Given the description of an element on the screen output the (x, y) to click on. 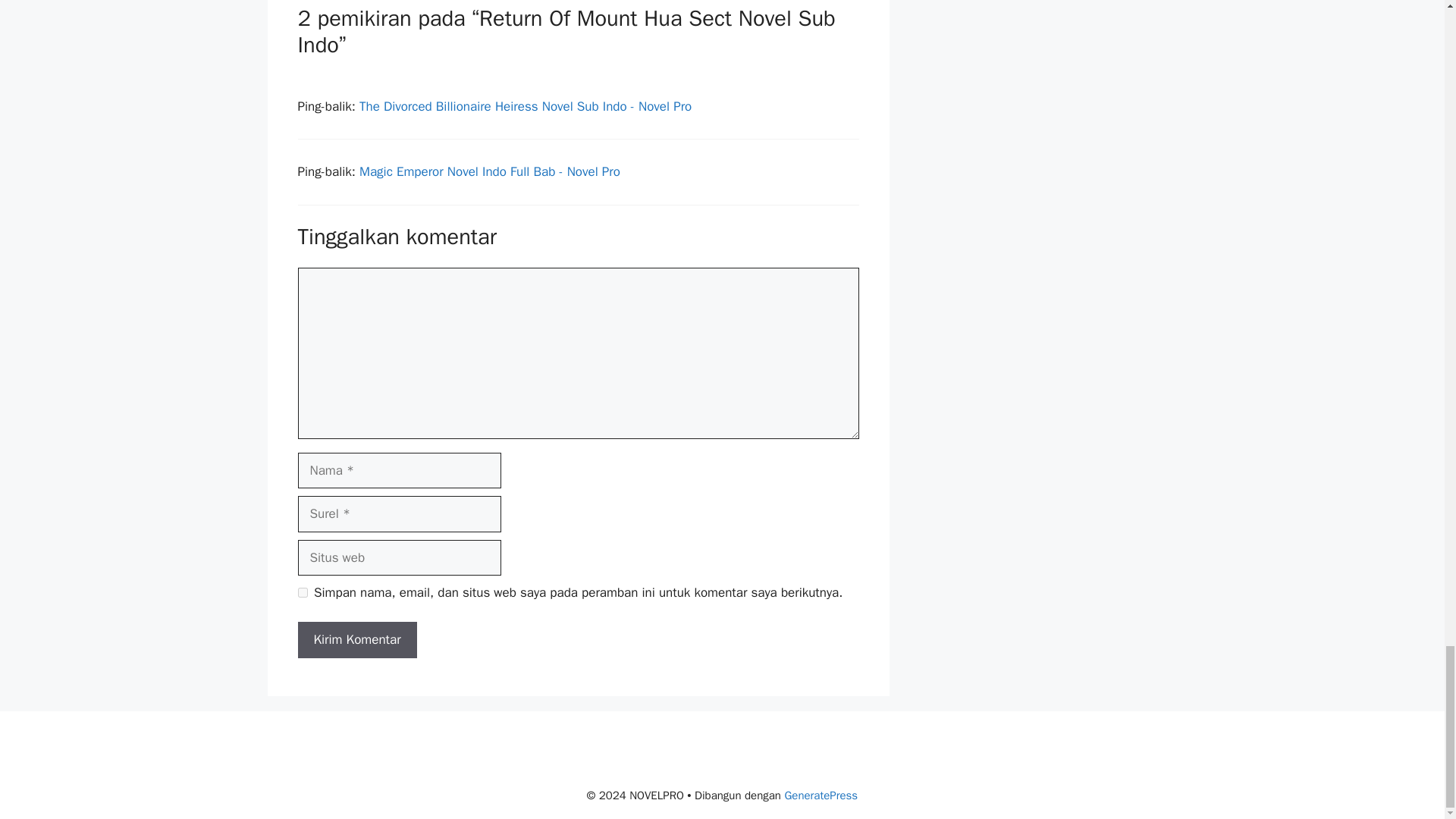
yes (302, 592)
The Divorced Billionaire Heiress Novel Sub Indo - Novel Pro (525, 106)
Kirim Komentar (356, 639)
Magic Emperor Novel Indo Full Bab - Novel Pro (489, 171)
Kirim Komentar (356, 639)
